Given the description of an element on the screen output the (x, y) to click on. 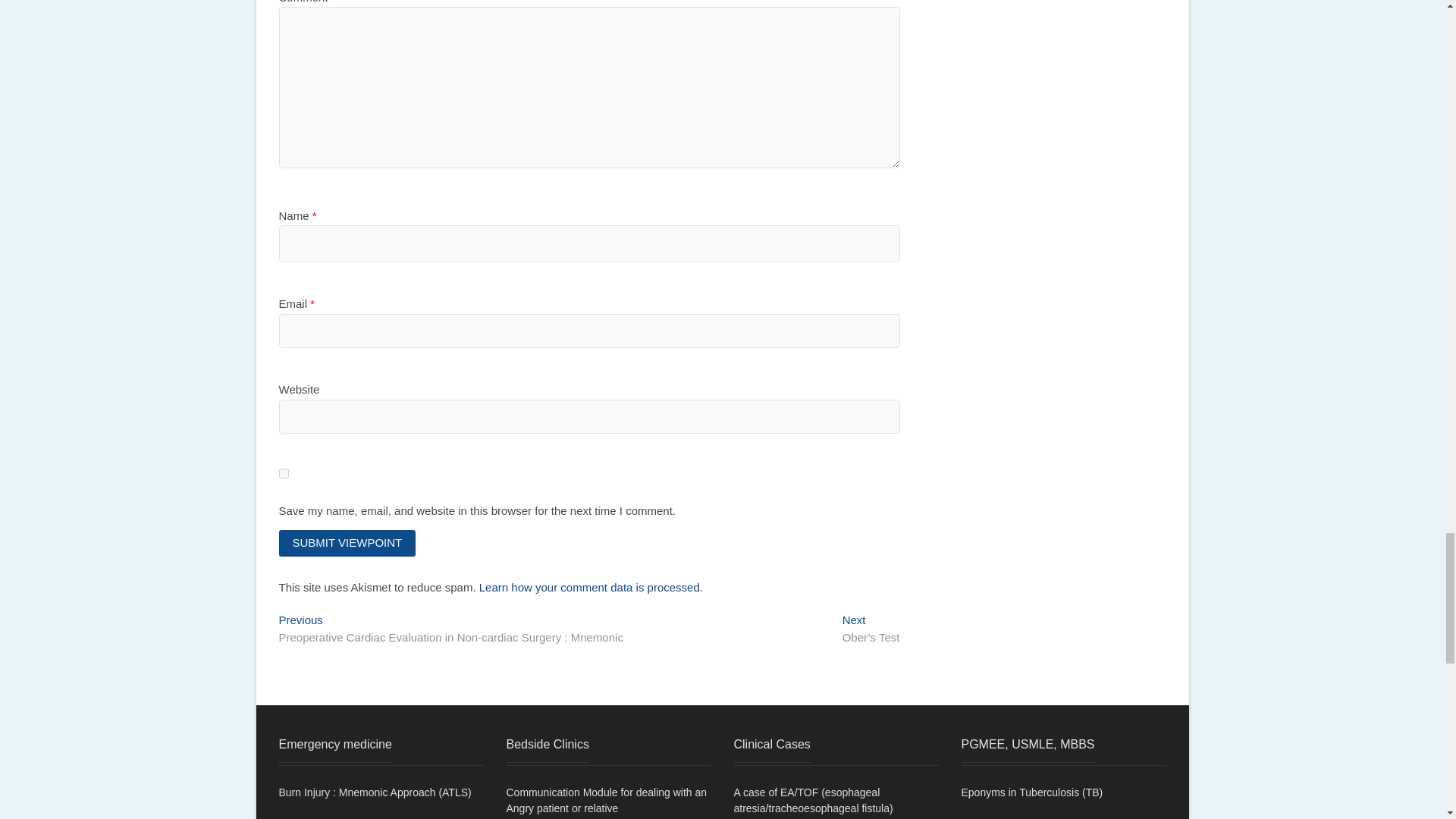
Submit Viewpoint (347, 542)
Submit Viewpoint (347, 542)
yes (283, 473)
